Given the description of an element on the screen output the (x, y) to click on. 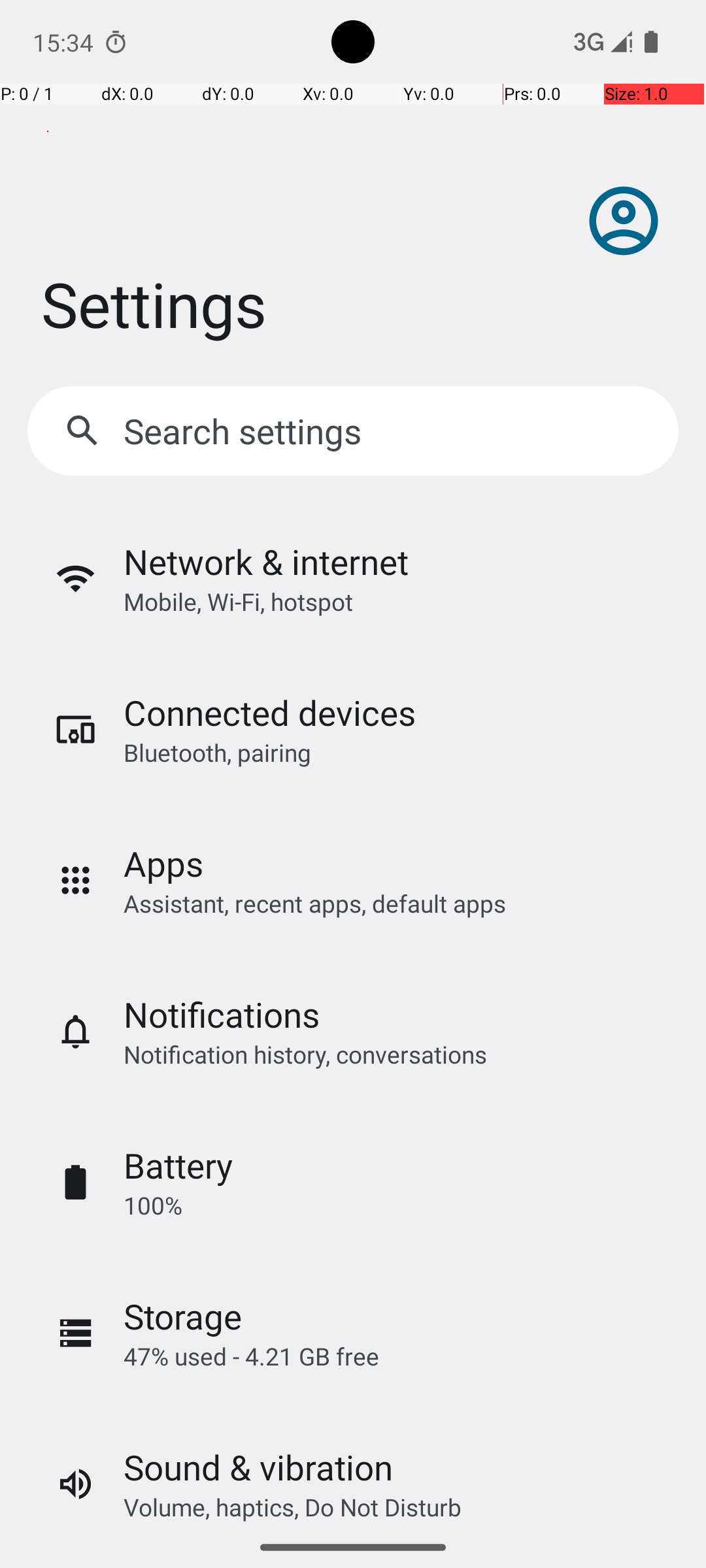
47% used - 4.21 GB free Element type: android.widget.TextView (251, 1355)
